Given the description of an element on the screen output the (x, y) to click on. 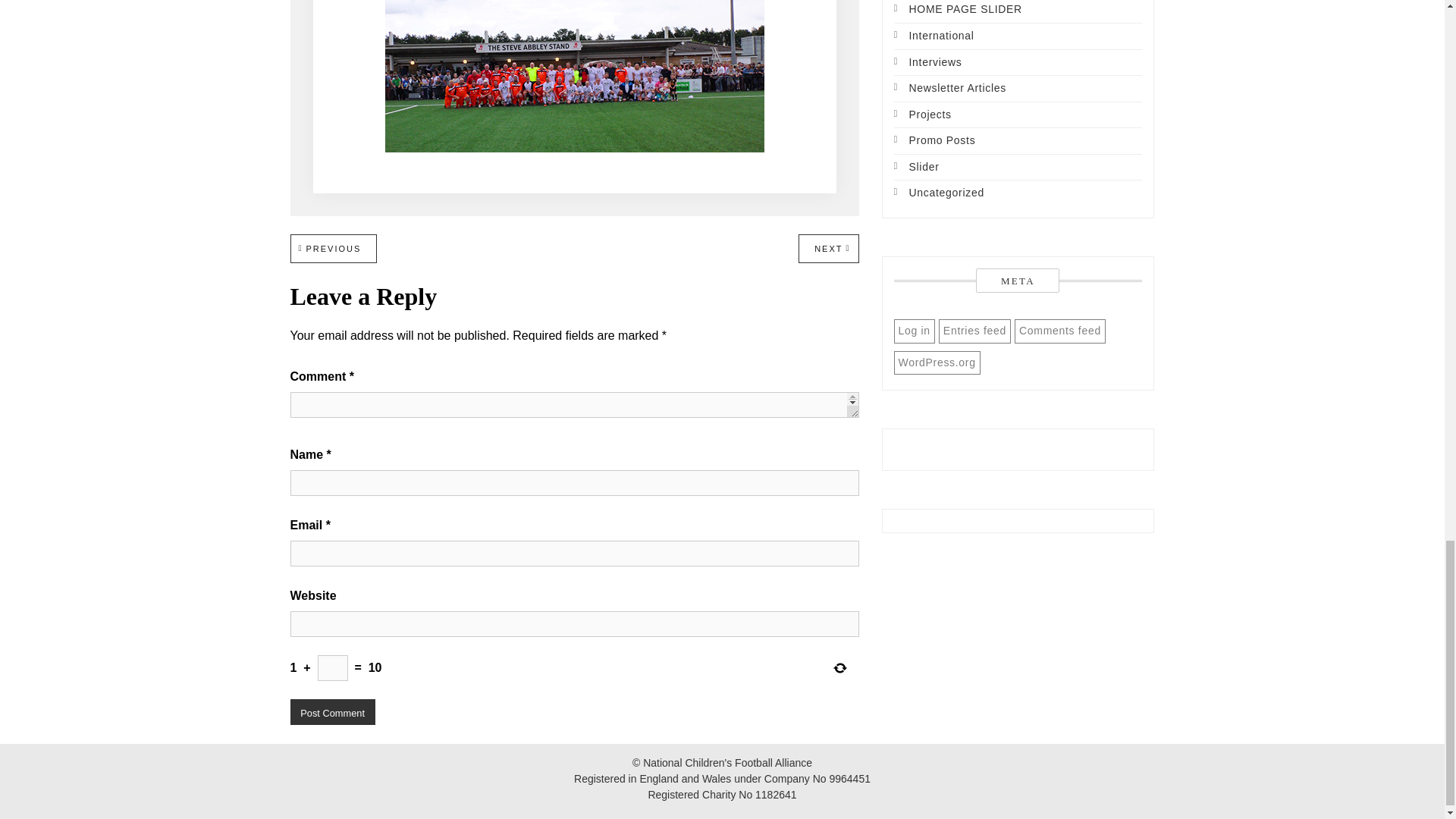
Post Comment (331, 711)
